Given the description of an element on the screen output the (x, y) to click on. 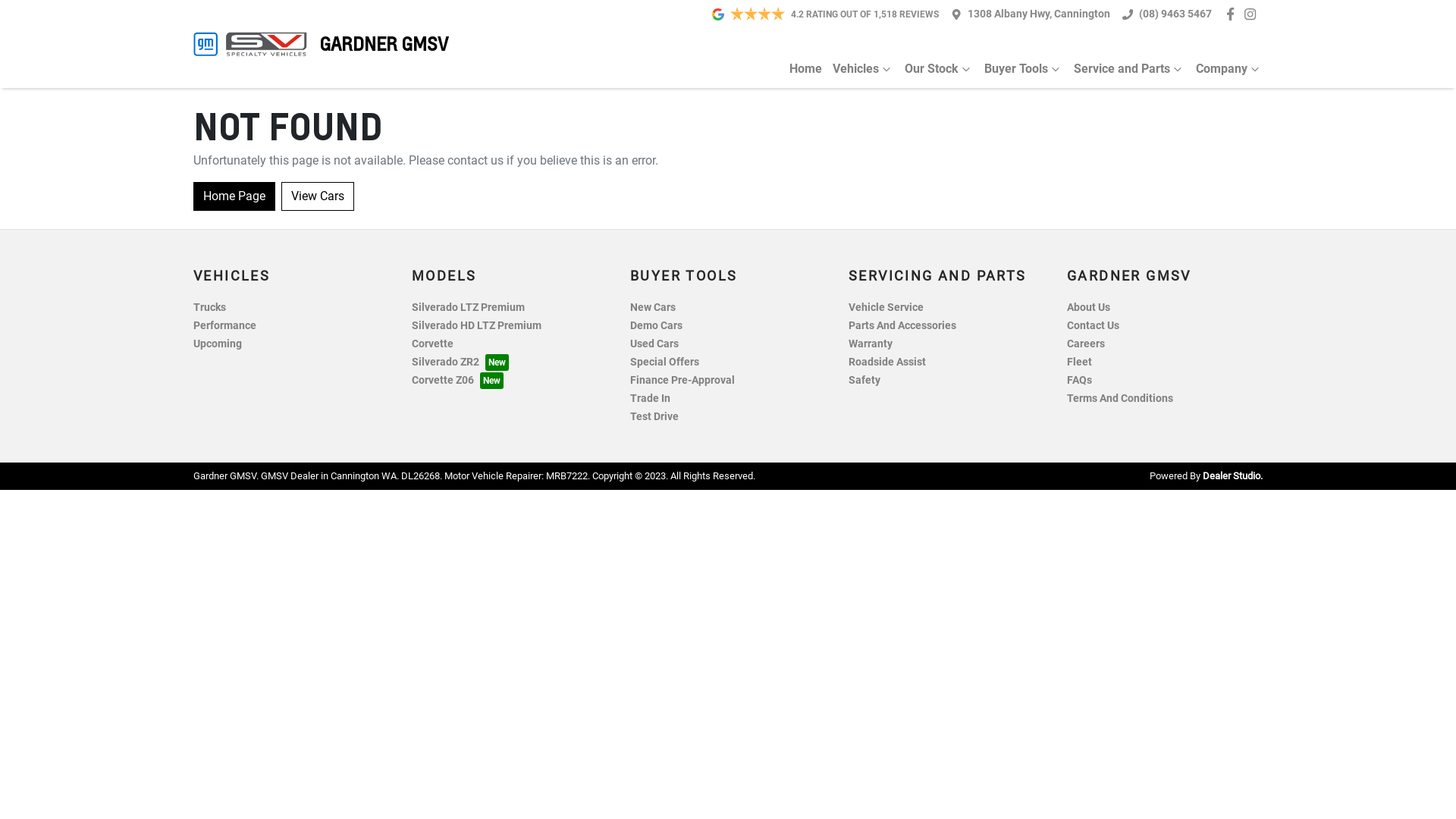
Demo Cars Element type: text (656, 325)
Silverado HD LTZ Premium Element type: text (476, 325)
Used Cars Element type: text (654, 343)
Vehicle Service Element type: text (885, 307)
Trade In Element type: text (650, 398)
About Us Element type: text (1088, 307)
Corvette Z06 Element type: text (457, 379)
Safety Element type: text (864, 379)
Buyer Tools Element type: text (1018, 68)
Contact Us Element type: text (1092, 325)
Silverado ZR2 Element type: text (459, 361)
Special Offers Element type: text (664, 361)
View Cars Element type: text (317, 196)
Silverado LTZ Premium Element type: text (467, 307)
Upcoming Element type: text (217, 343)
GARDNER GMSV Element type: text (320, 43)
Roadside Assist Element type: text (886, 361)
Home Page Element type: text (234, 196)
Service and Parts Element type: text (1124, 68)
1308 Albany Hwy, Cannington Element type: text (1038, 13)
Finance Pre-Approval Element type: text (682, 379)
Corvette Element type: text (432, 343)
Test Drive Element type: text (654, 416)
Trucks Element type: text (209, 307)
Parts And Accessories Element type: text (902, 325)
Vehicles Element type: text (858, 68)
Fleet Element type: text (1079, 361)
Warranty Element type: text (870, 343)
Performance Element type: text (224, 325)
Home Element type: text (805, 68)
Our Stock Element type: text (933, 68)
Careers Element type: text (1085, 343)
Dealer Studio. Element type: text (1232, 475)
FAQs Element type: text (1079, 379)
(08) 9463 5467 Element type: text (1175, 13)
Terms And Conditions Element type: text (1119, 398)
Company Element type: text (1223, 68)
New Cars Element type: text (652, 307)
